Given the description of an element on the screen output the (x, y) to click on. 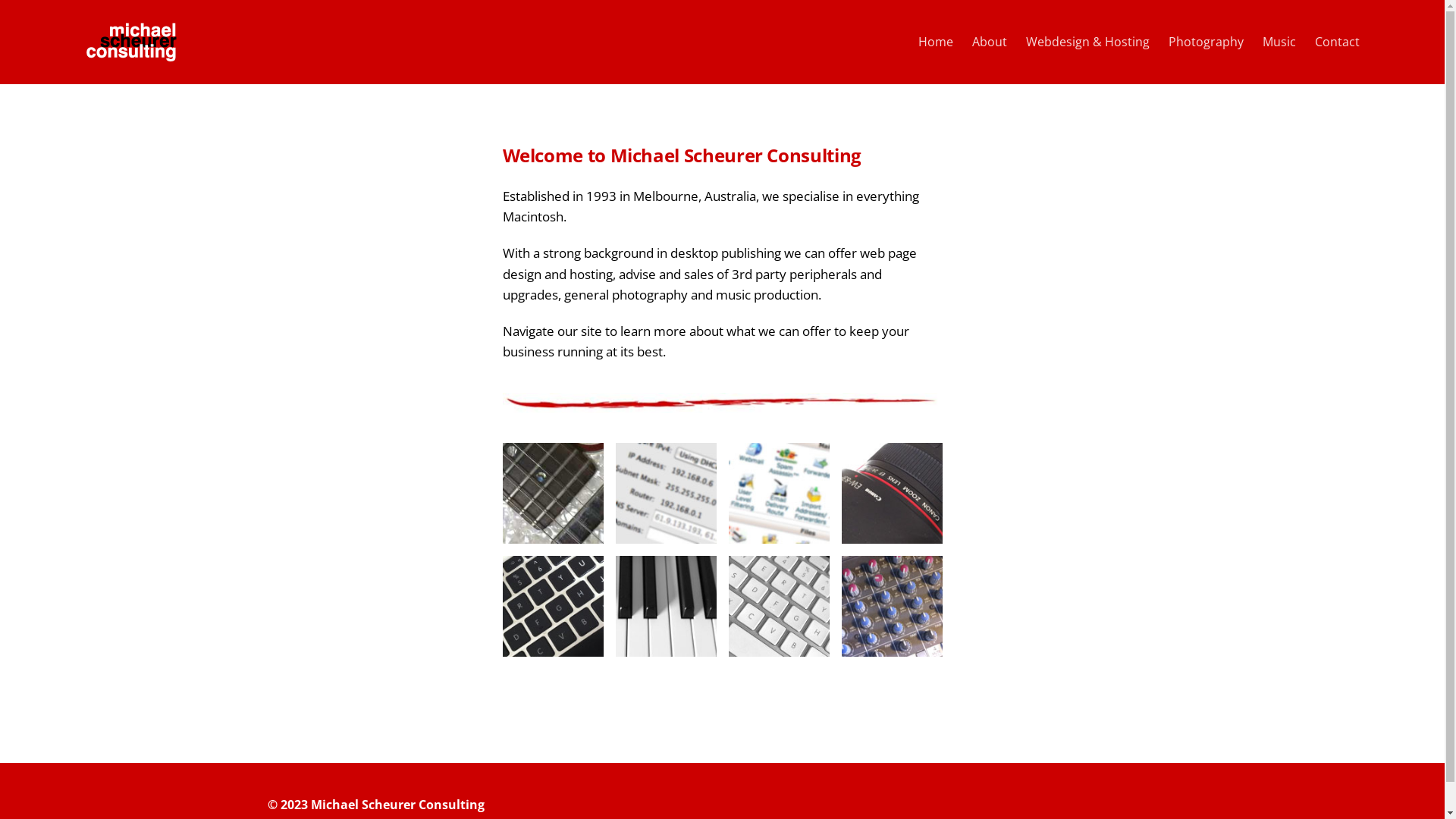
Music Element type: text (1278, 41)
Michael Scheurer Consulting Element type: text (397, 804)
Webdesign & Hosting Element type: text (1086, 41)
About Element type: text (989, 41)
Home Element type: text (934, 41)
Photography Element type: text (1204, 41)
Contact Element type: text (1336, 41)
